Given the description of an element on the screen output the (x, y) to click on. 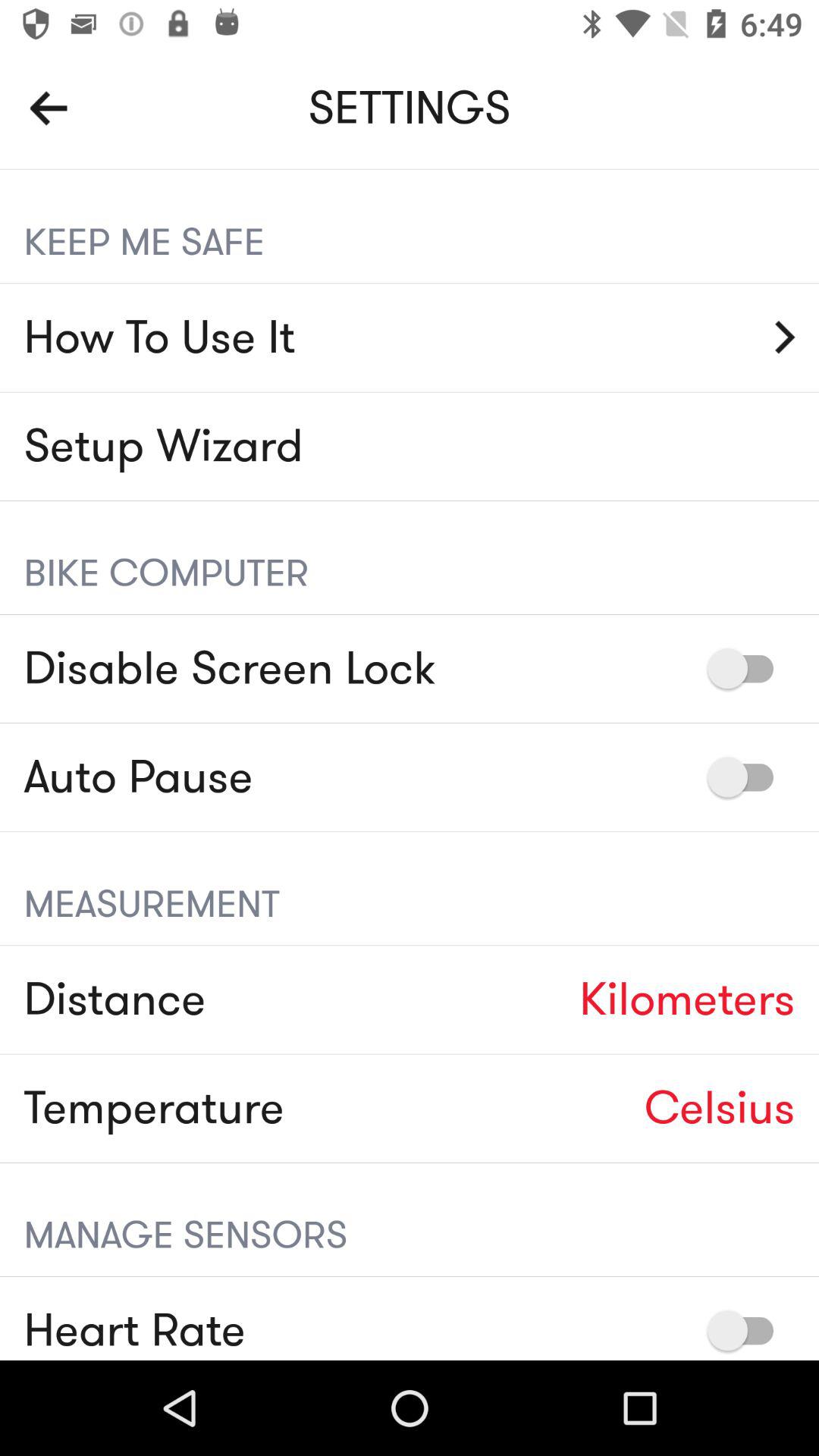
toggle auto pause option (747, 777)
